Given the description of an element on the screen output the (x, y) to click on. 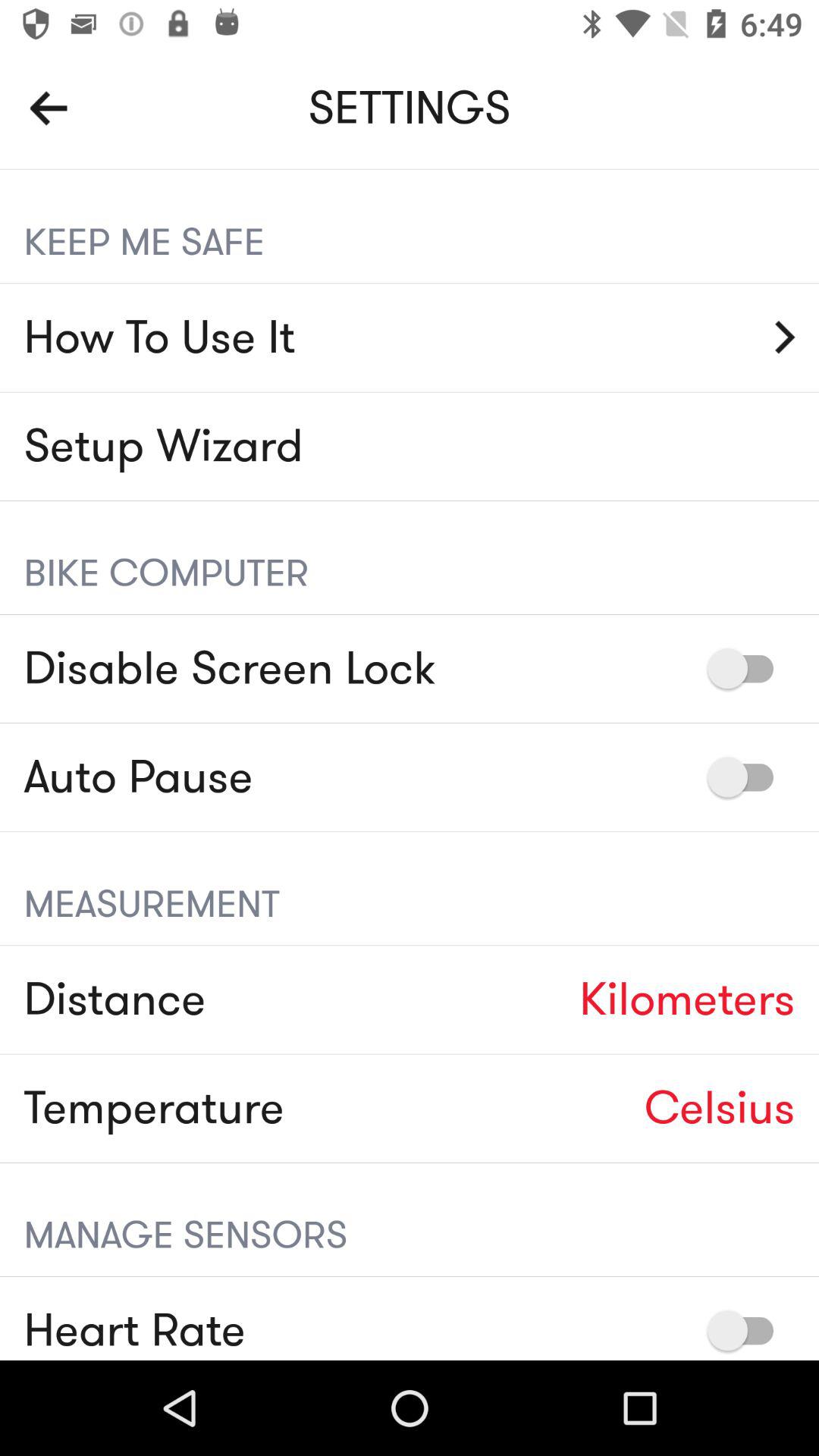
toggle auto pause option (747, 777)
